Given the description of an element on the screen output the (x, y) to click on. 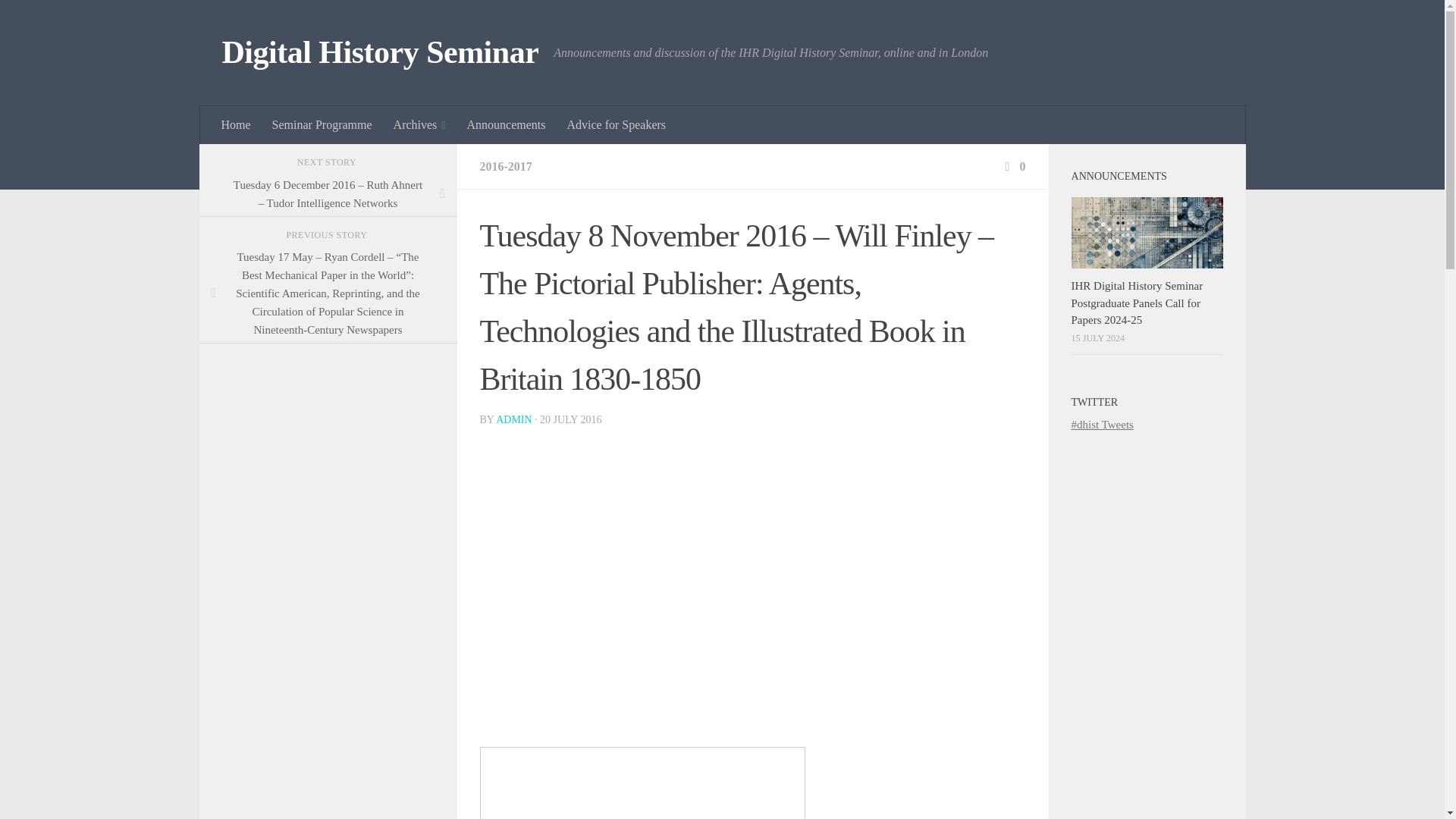
2016-2017 (505, 165)
Digital History Seminar (379, 53)
Skip to content (59, 20)
0 (1013, 165)
Home (236, 125)
Announcements (505, 125)
Posts by admin (513, 419)
ADMIN (513, 419)
Advice for Speakers (616, 125)
